Given the description of an element on the screen output the (x, y) to click on. 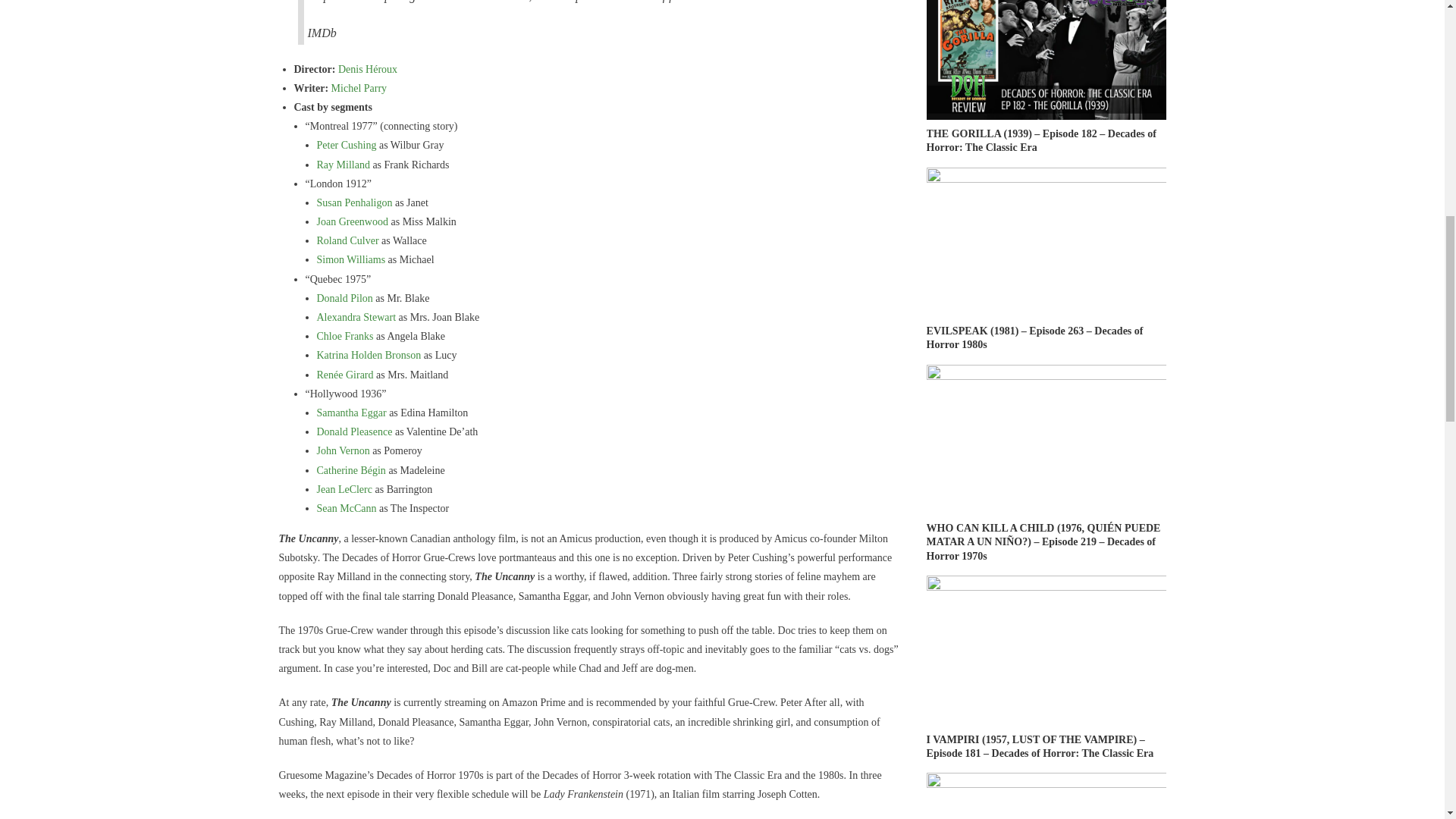
Simon Williams (351, 259)
Roland Culver (347, 240)
Michel Parry (359, 88)
Peter Cushing (347, 144)
Ray Milland (343, 164)
Joan Greenwood (352, 221)
Susan Penhaligon (355, 202)
